Given the description of an element on the screen output the (x, y) to click on. 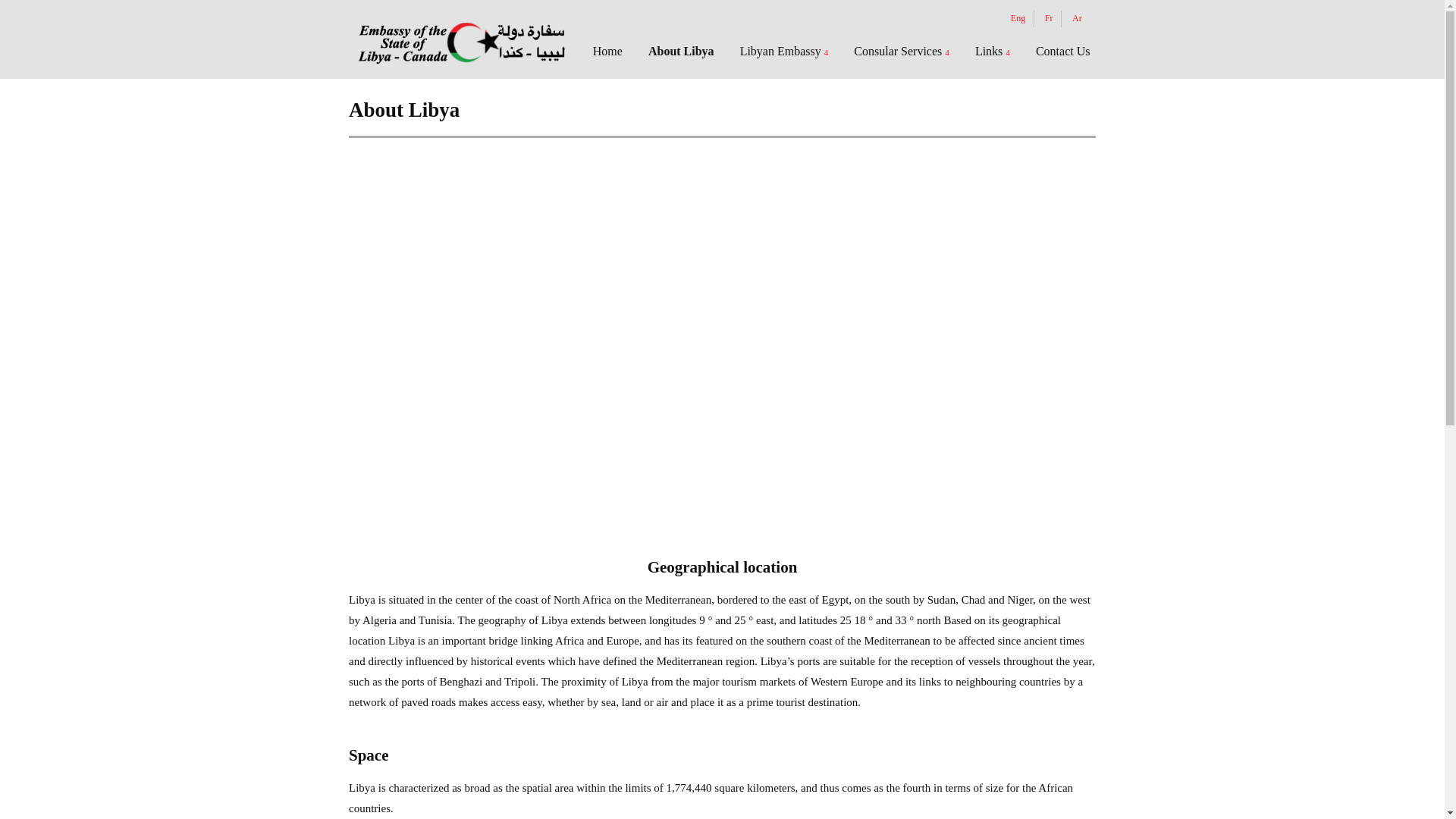
Ar (1076, 18)
Links (992, 51)
Libyan Embassy (784, 51)
About Libya (681, 51)
Fr (1048, 18)
Eng (1017, 18)
Home (612, 51)
Consular Services (901, 51)
